Given the description of an element on the screen output the (x, y) to click on. 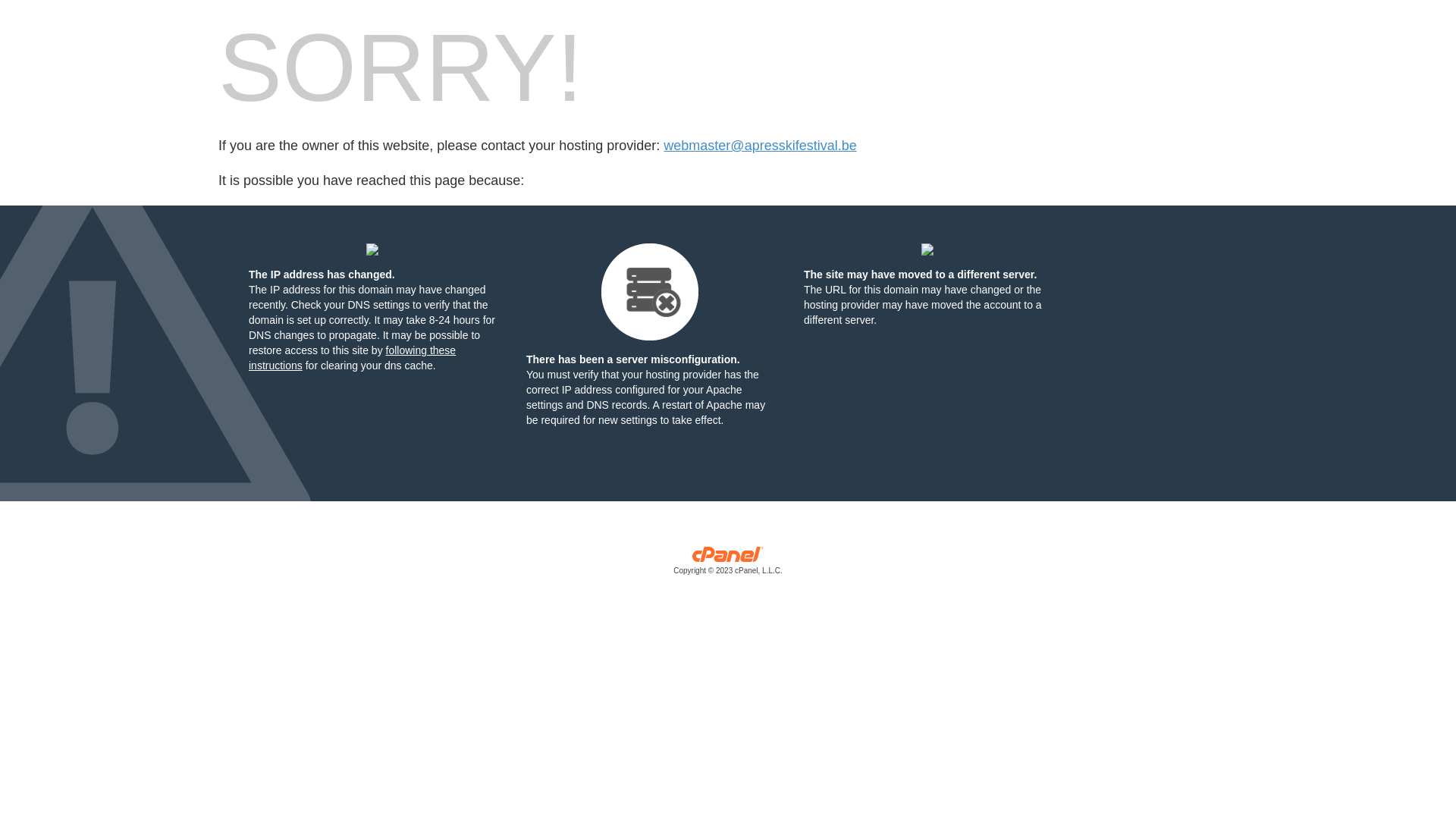
following these instructions Element type: text (351, 357)
webmaster@apresskifestival.be Element type: text (759, 145)
